Given the description of an element on the screen output the (x, y) to click on. 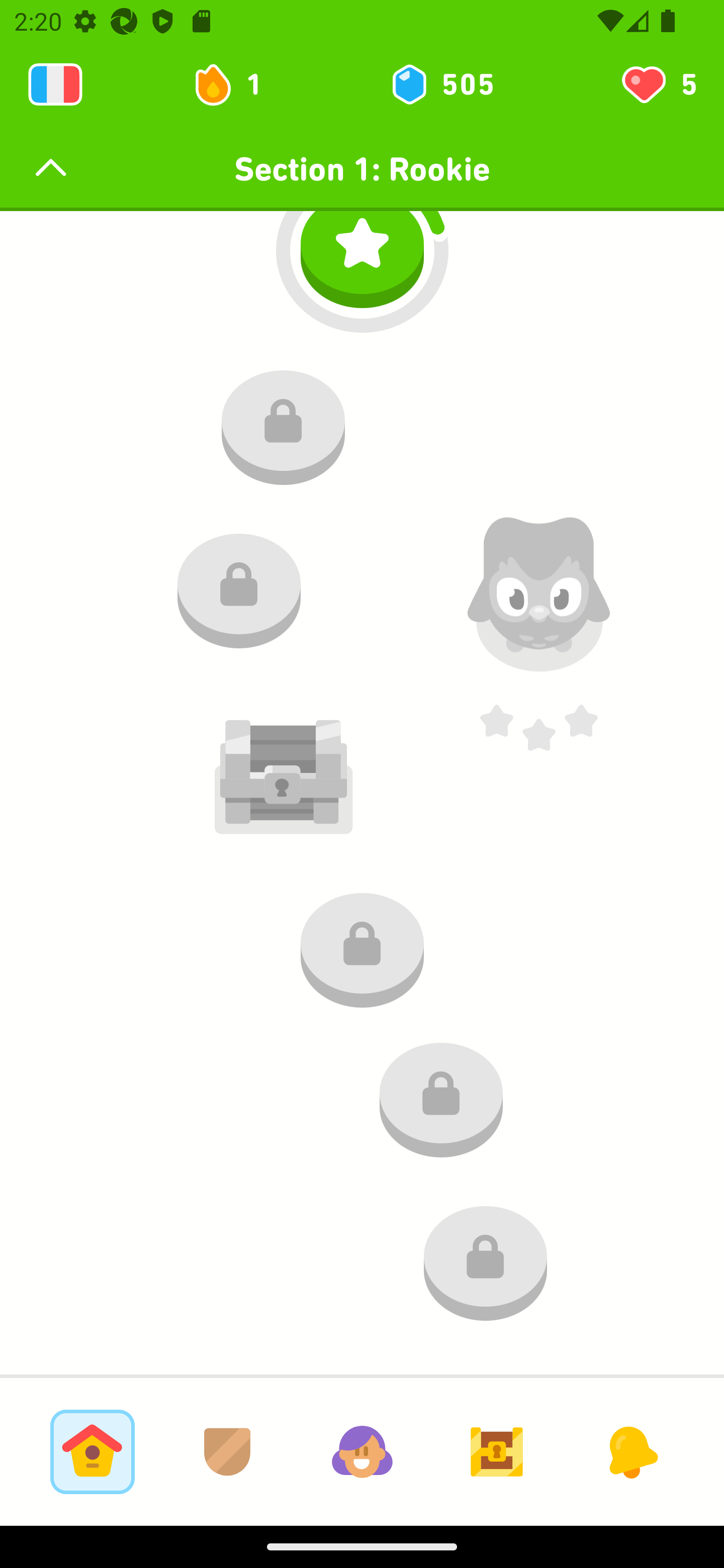
Learning 2131888976 (55, 84)
1 day streak 1 (236, 84)
505 (441, 84)
You have 5 hearts left 5 (657, 84)
Section 1: Rookie (362, 169)
Learn Tab (91, 1451)
Leagues Tab (227, 1451)
Profile Tab (361, 1451)
Goals Tab (496, 1451)
News Tab (631, 1451)
